Given the description of an element on the screen output the (x, y) to click on. 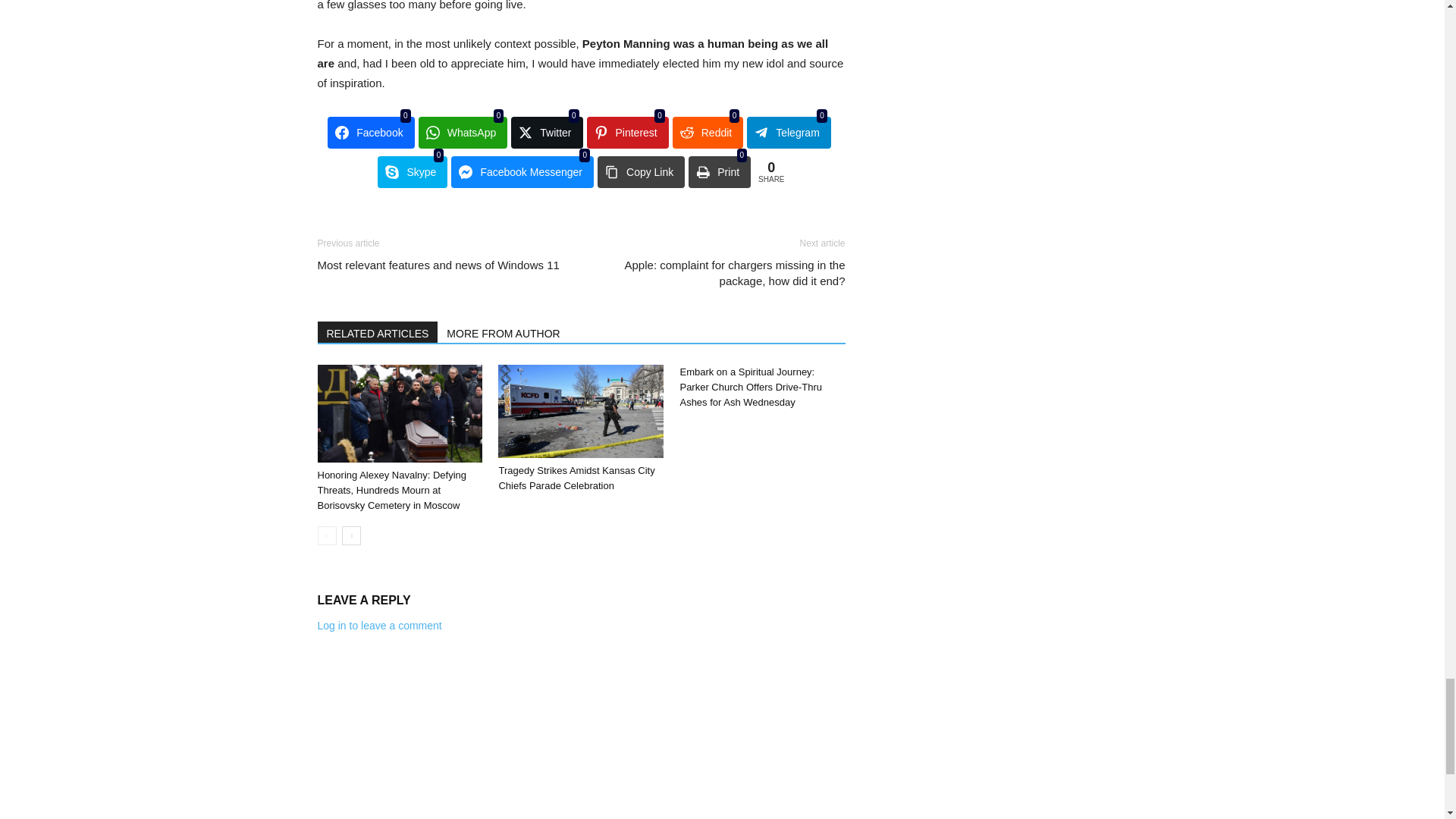
Share on Skype (411, 172)
Facebook (370, 132)
Share on Pinterest (627, 132)
Share on Reddit (707, 132)
Share on Copy Link (640, 172)
Share on Twitter (546, 132)
Share on Telegram (788, 132)
Share on Facebook Messenger (522, 172)
bottomFacebookLike (430, 222)
Share on Facebook (370, 132)
Share on WhatsApp (463, 132)
Share on Print (719, 172)
